Given the description of an element on the screen output the (x, y) to click on. 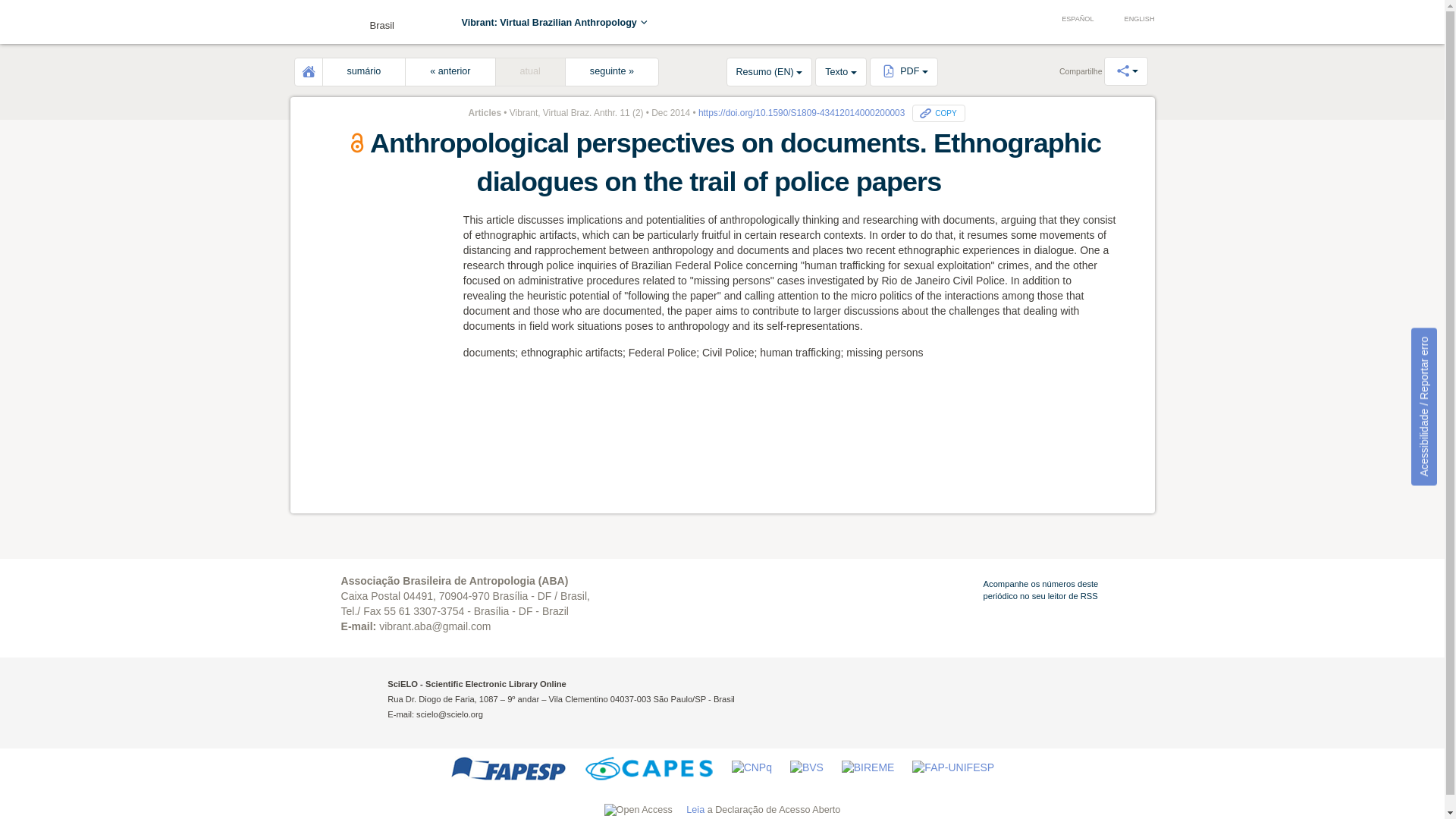
Brasil (346, 21)
Abrir menu (312, 23)
ENGLISH (1131, 19)
Abrir menu (312, 23)
Vibrant: Virtual Brazilian Anthropology (555, 22)
